Given the description of an element on the screen output the (x, y) to click on. 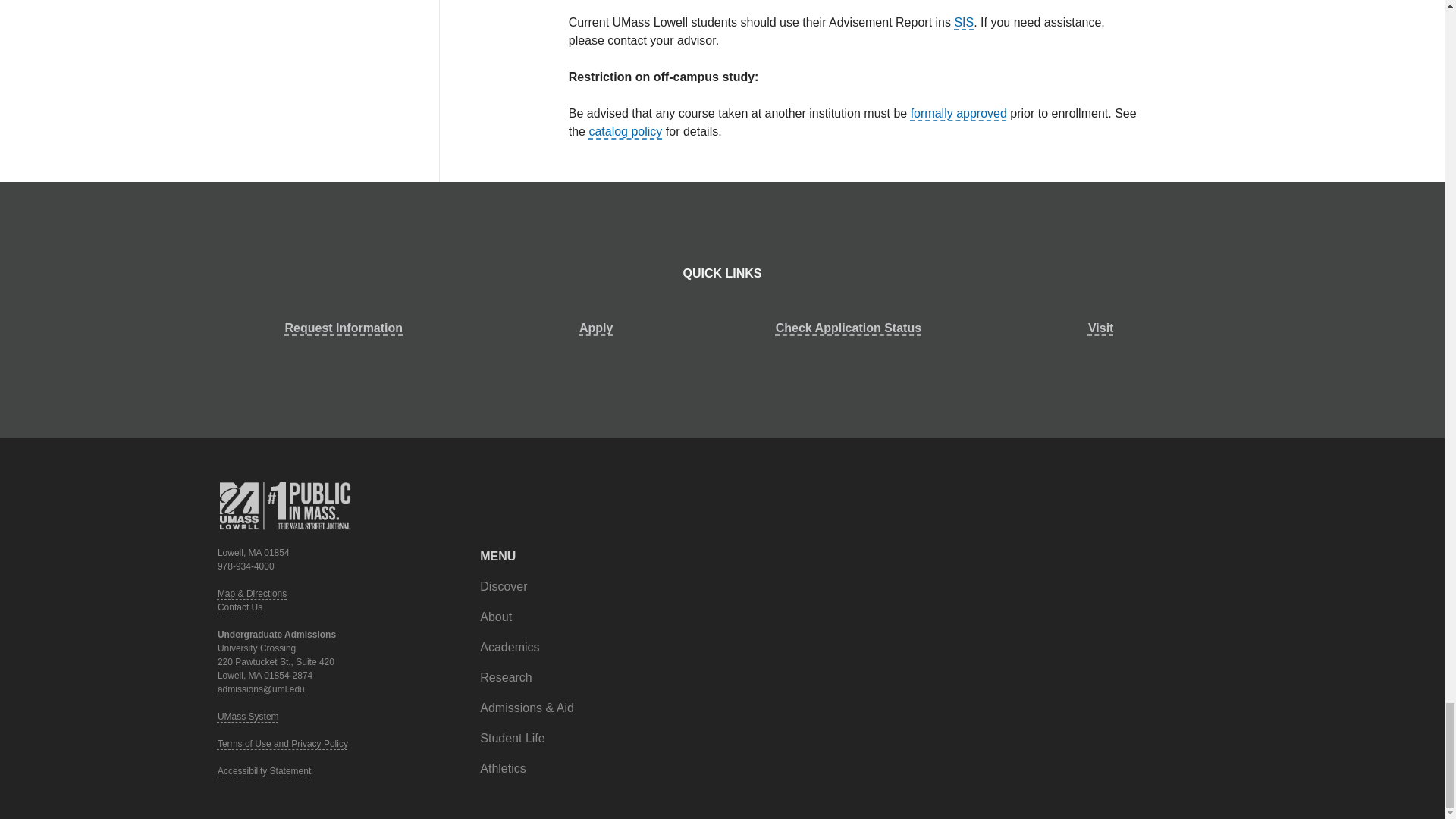
Off Campus Courses (959, 113)
